Given the description of an element on the screen output the (x, y) to click on. 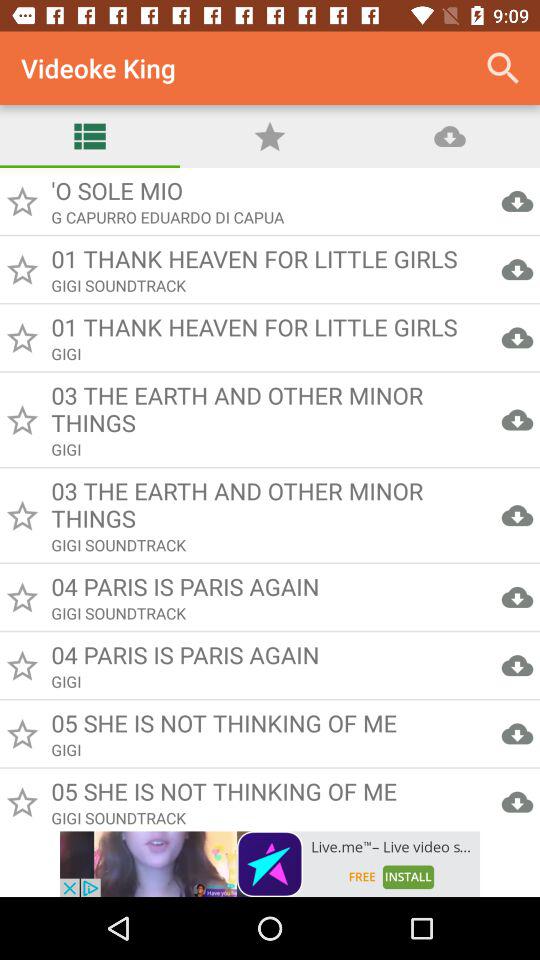
click on the advertisement (270, 864)
